Given the description of an element on the screen output the (x, y) to click on. 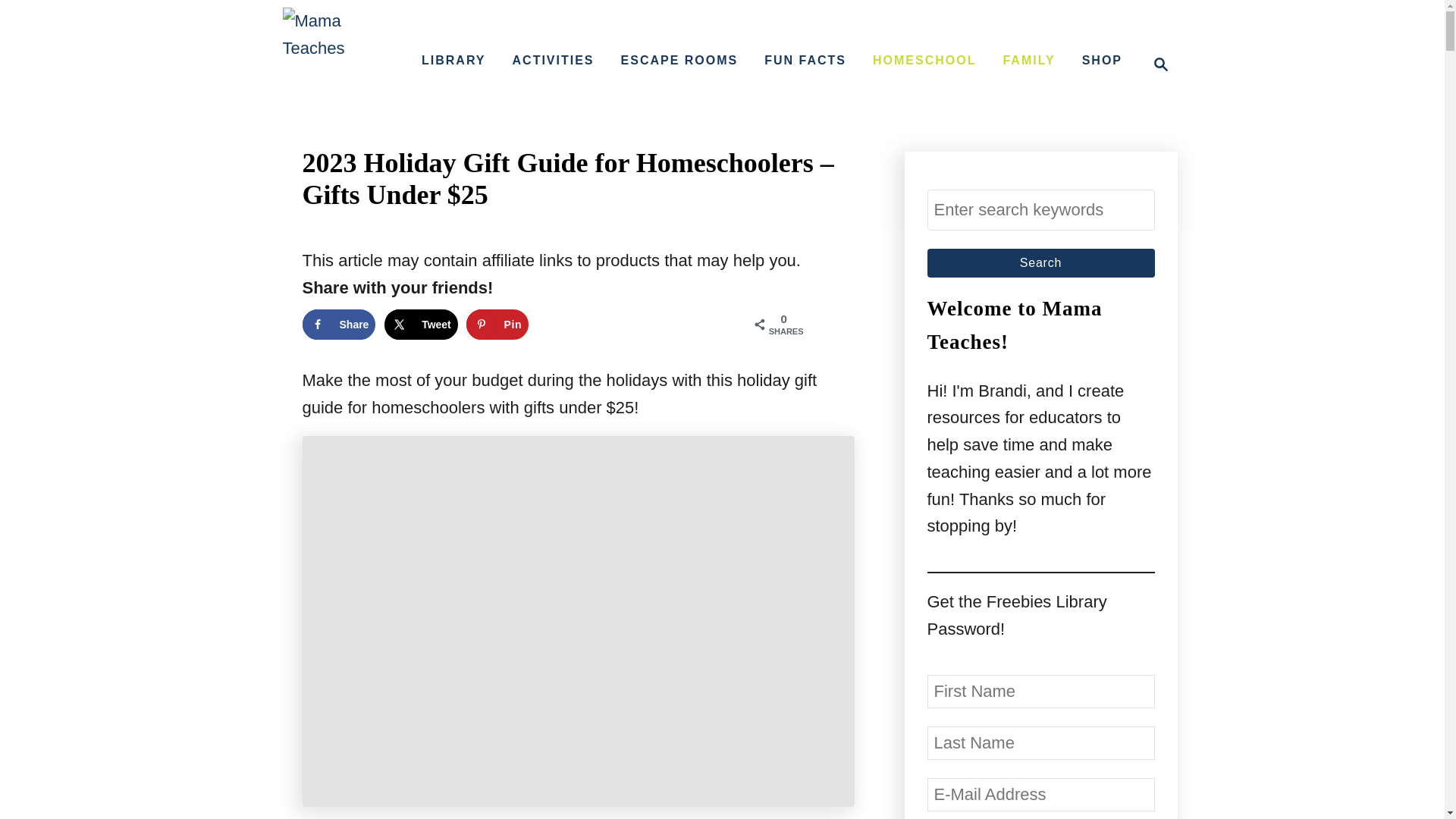
Search for: (1040, 209)
Tweet (421, 324)
ESCAPE ROOMS (678, 60)
FAMILY (1028, 60)
Search (1040, 262)
Save to Pinterest (496, 324)
SHOP (1101, 60)
Mama Teaches (339, 64)
Share on Facebook (338, 324)
Pin (496, 324)
